Given the description of an element on the screen output the (x, y) to click on. 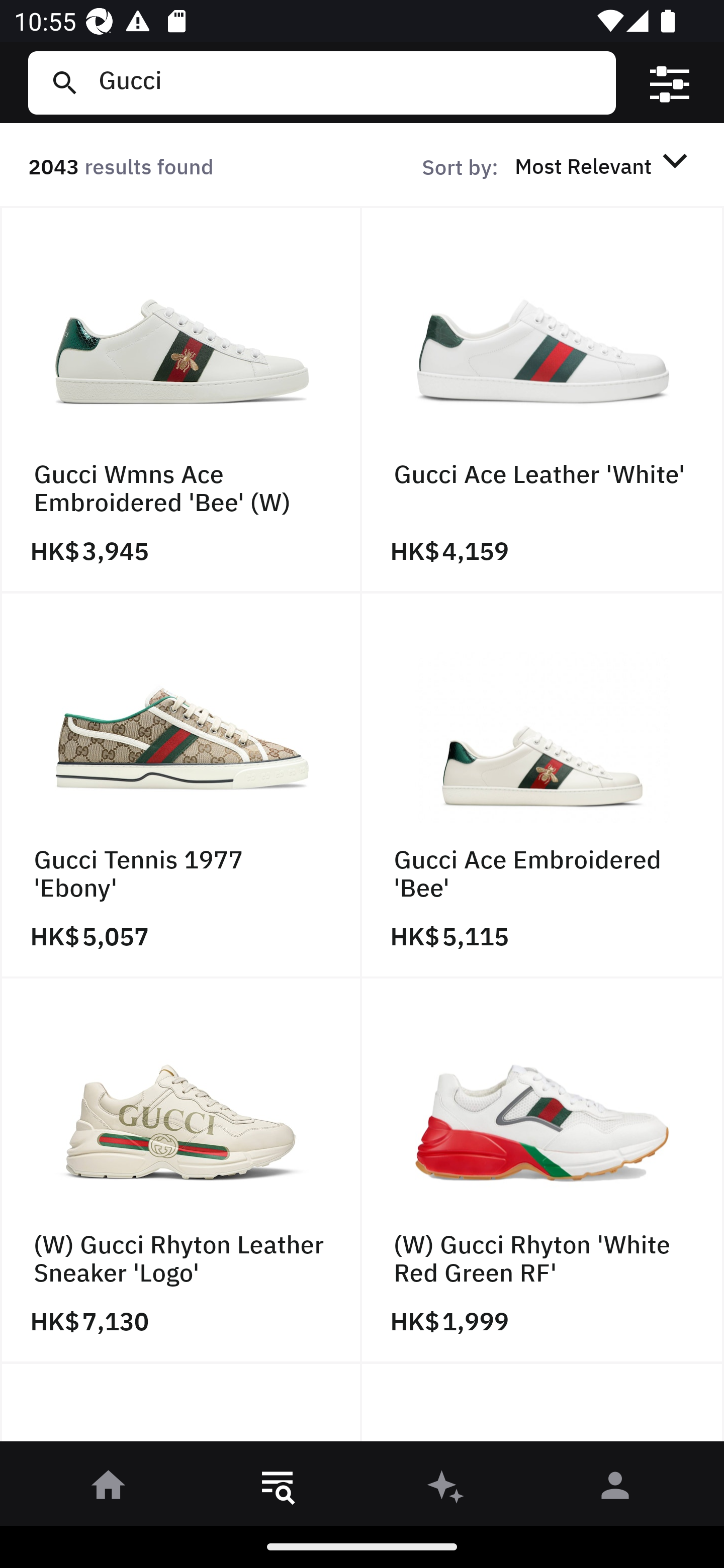
Gucci (349, 82)
 (669, 82)
Most Relevant  (604, 165)
Gucci Wmns Ace Embroidered 'Bee' (W) HK$ 3,945 (181, 399)
Gucci Ace Leather 'White' HK$ 4,159 (543, 399)
Gucci Tennis 1977 'Ebony' HK$ 5,057 (181, 785)
Gucci Ace Embroidered 'Bee' HK$ 5,115 (543, 785)
(W) Gucci Rhyton Leather Sneaker 'Logo' HK$ 7,130 (181, 1171)
(W) Gucci Rhyton 'White Red Green RF' HK$ 1,999 (543, 1171)
󰋜 (108, 1488)
󱎸 (277, 1488)
󰫢 (446, 1488)
󰀄 (615, 1488)
